Given the description of an element on the screen output the (x, y) to click on. 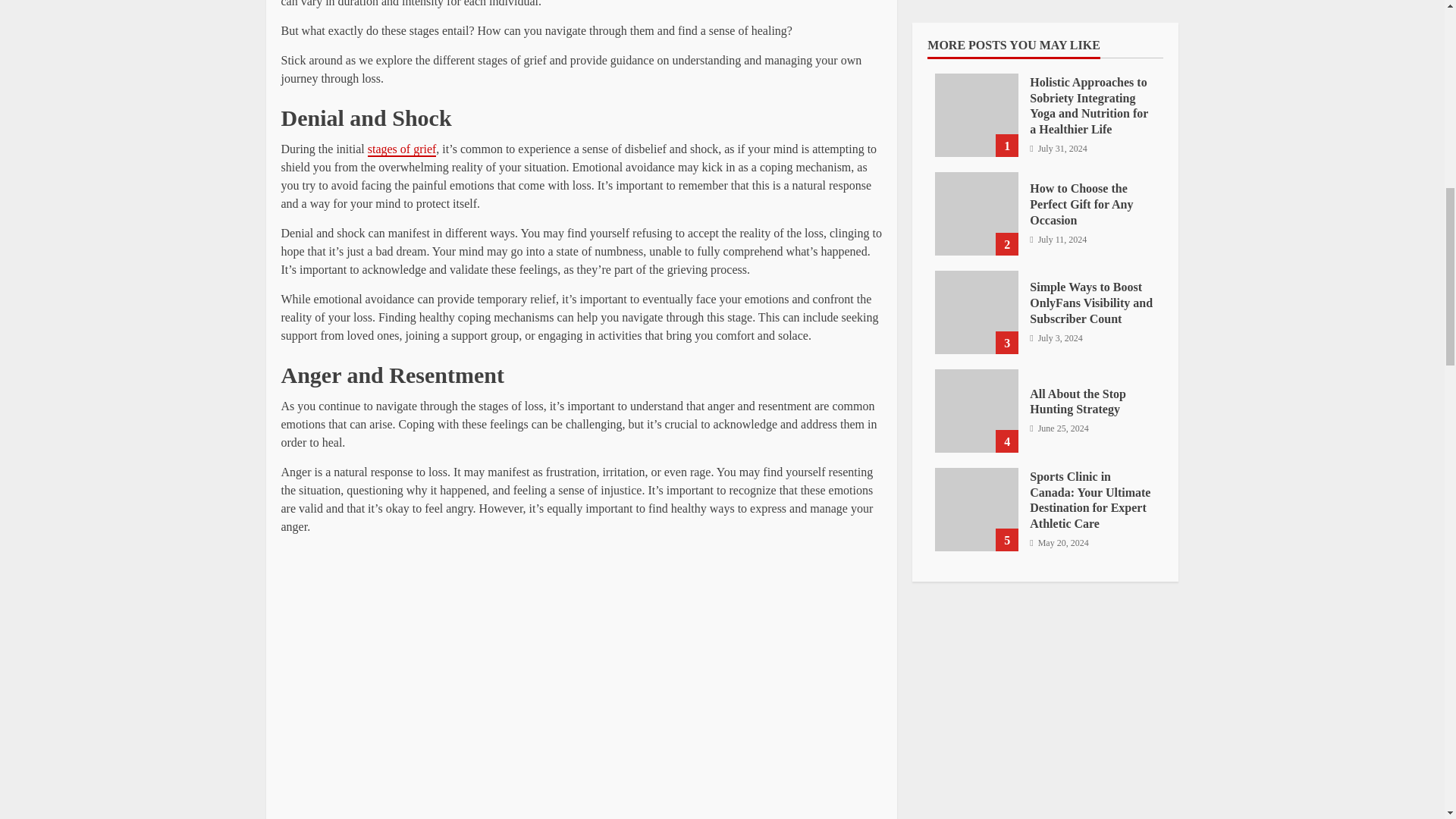
stages of grief (402, 149)
